Given the description of an element on the screen output the (x, y) to click on. 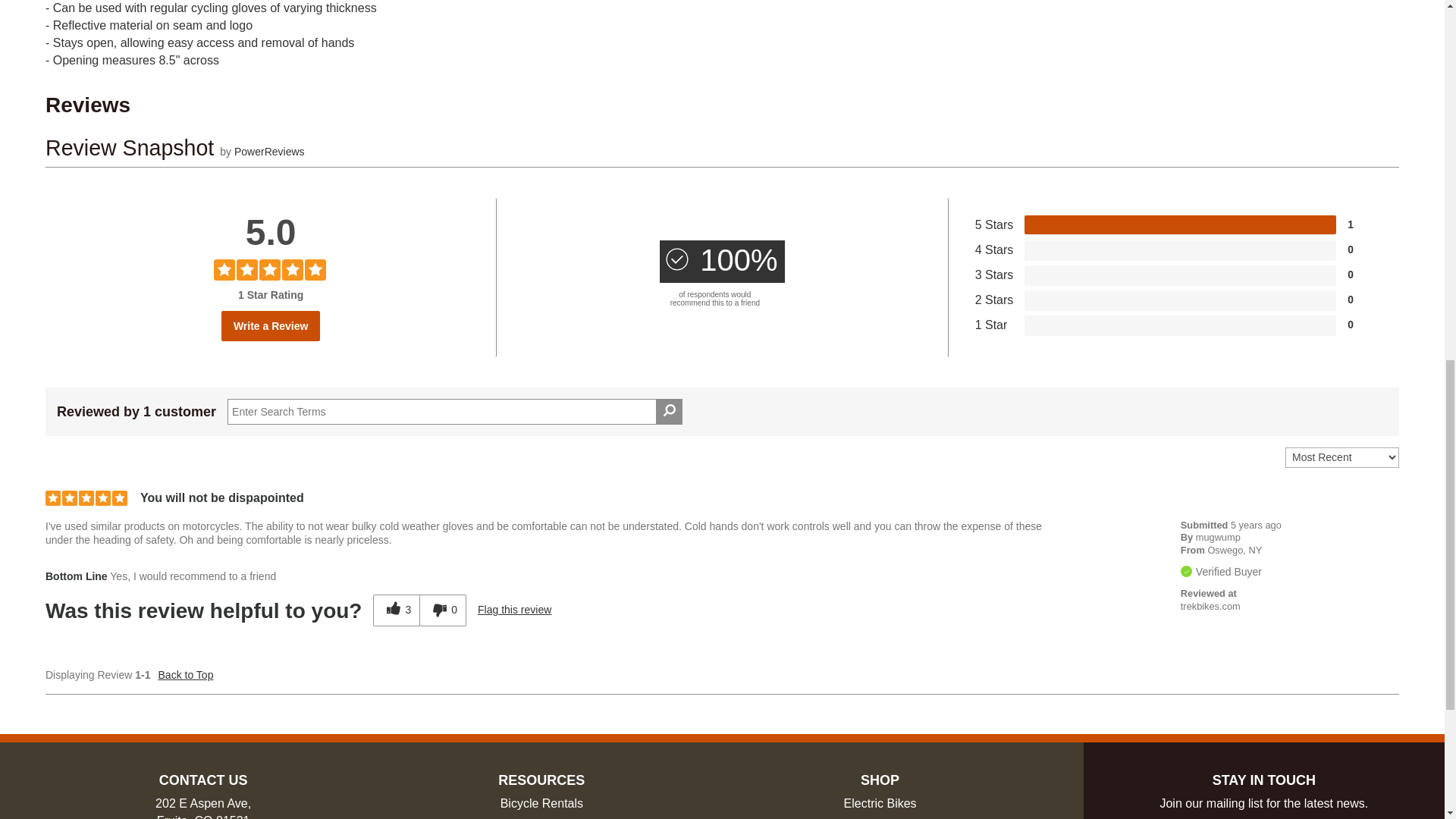
Verified Buyer (1186, 571)
Trek US (1210, 605)
